Given the description of an element on the screen output the (x, y) to click on. 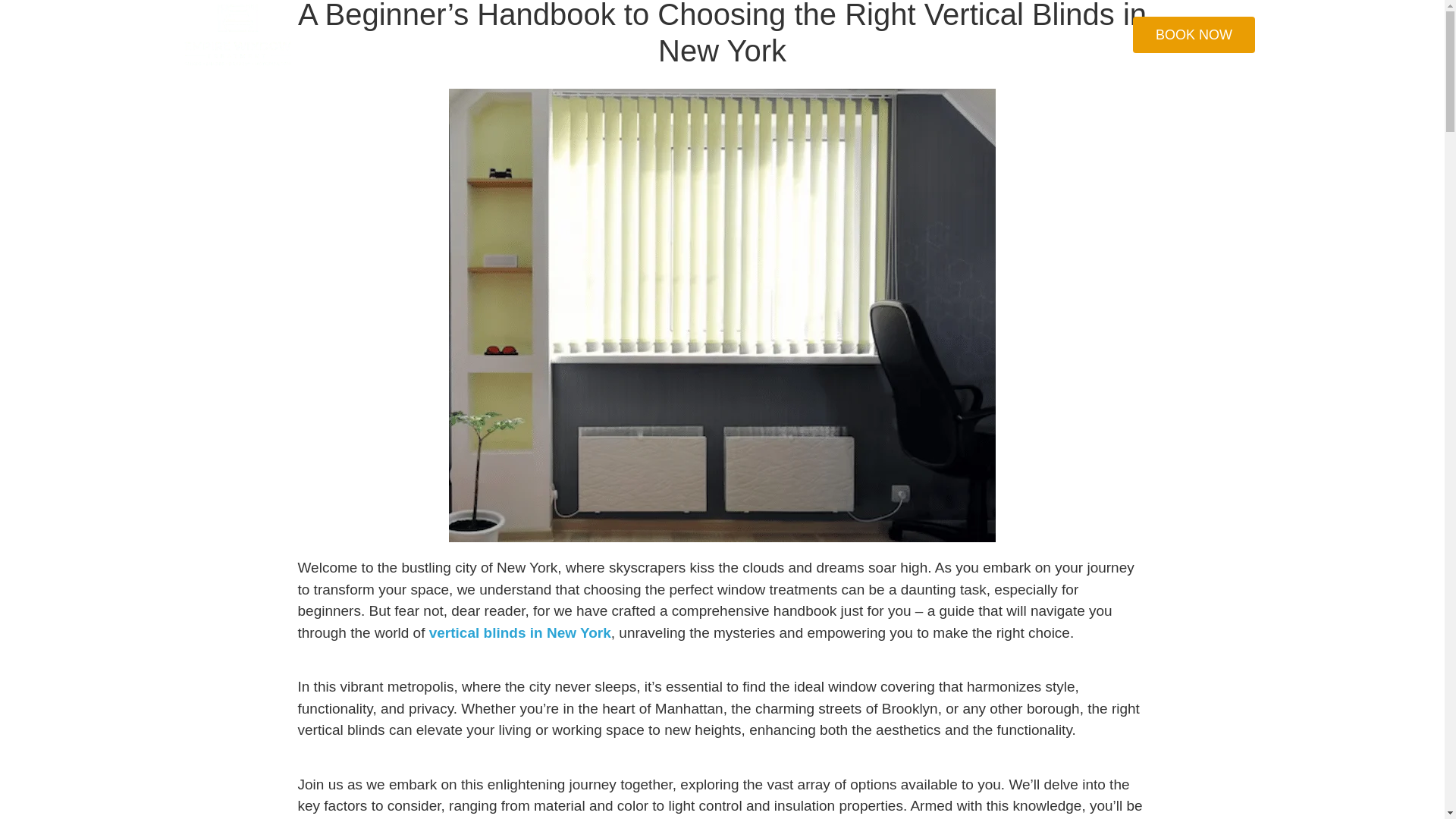
REPOSITORY FURNITURE (809, 34)
SHADES (504, 34)
COMPANY (916, 34)
BLINDS (558, 34)
MOTORIZATION (689, 34)
DRAPES (613, 34)
